Given the description of an element on the screen output the (x, y) to click on. 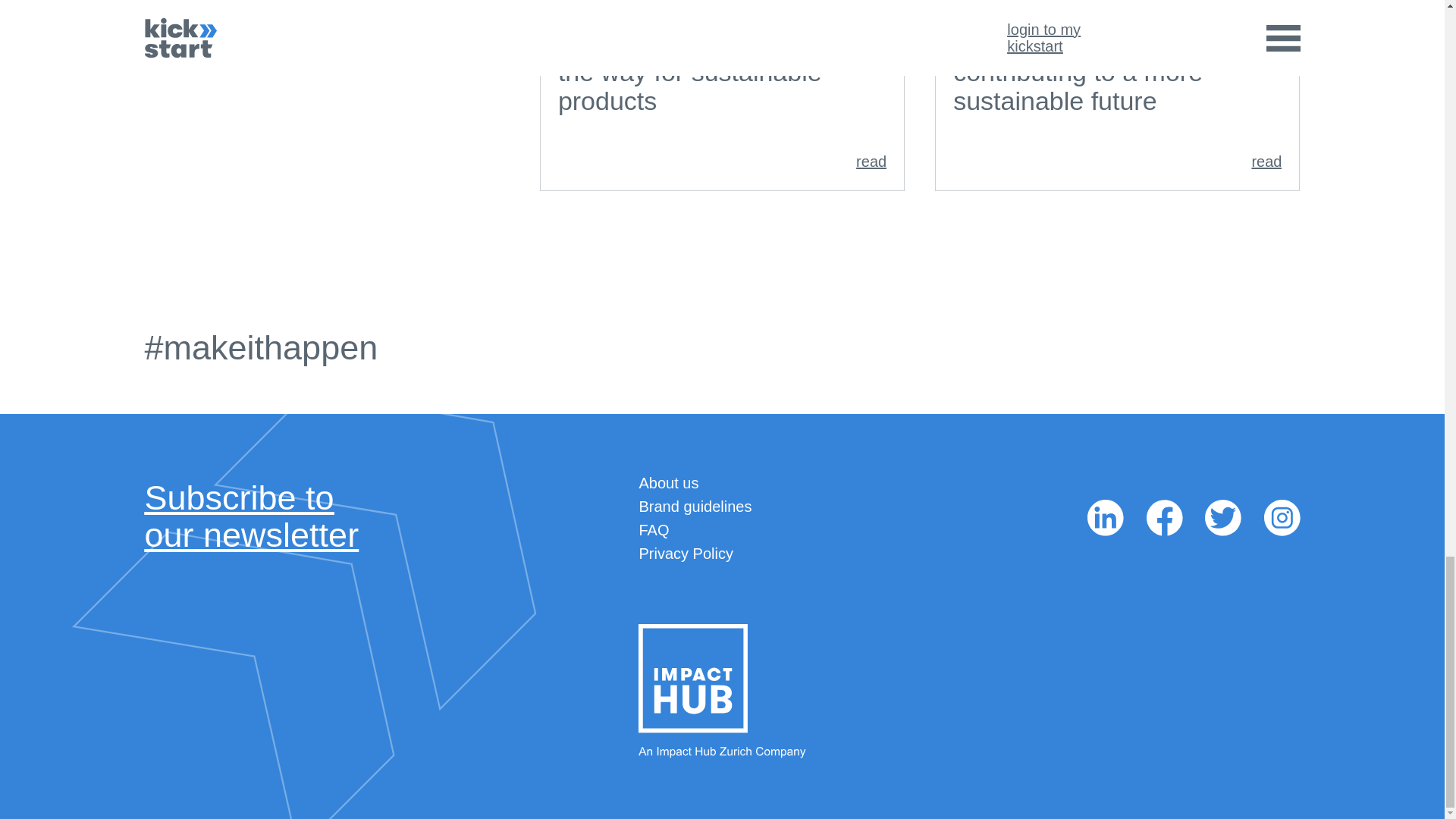
read (1117, 161)
read (721, 161)
About us (251, 516)
Brand guidelines (668, 483)
Privacy Policy (695, 506)
FAQ (685, 553)
